Given the description of an element on the screen output the (x, y) to click on. 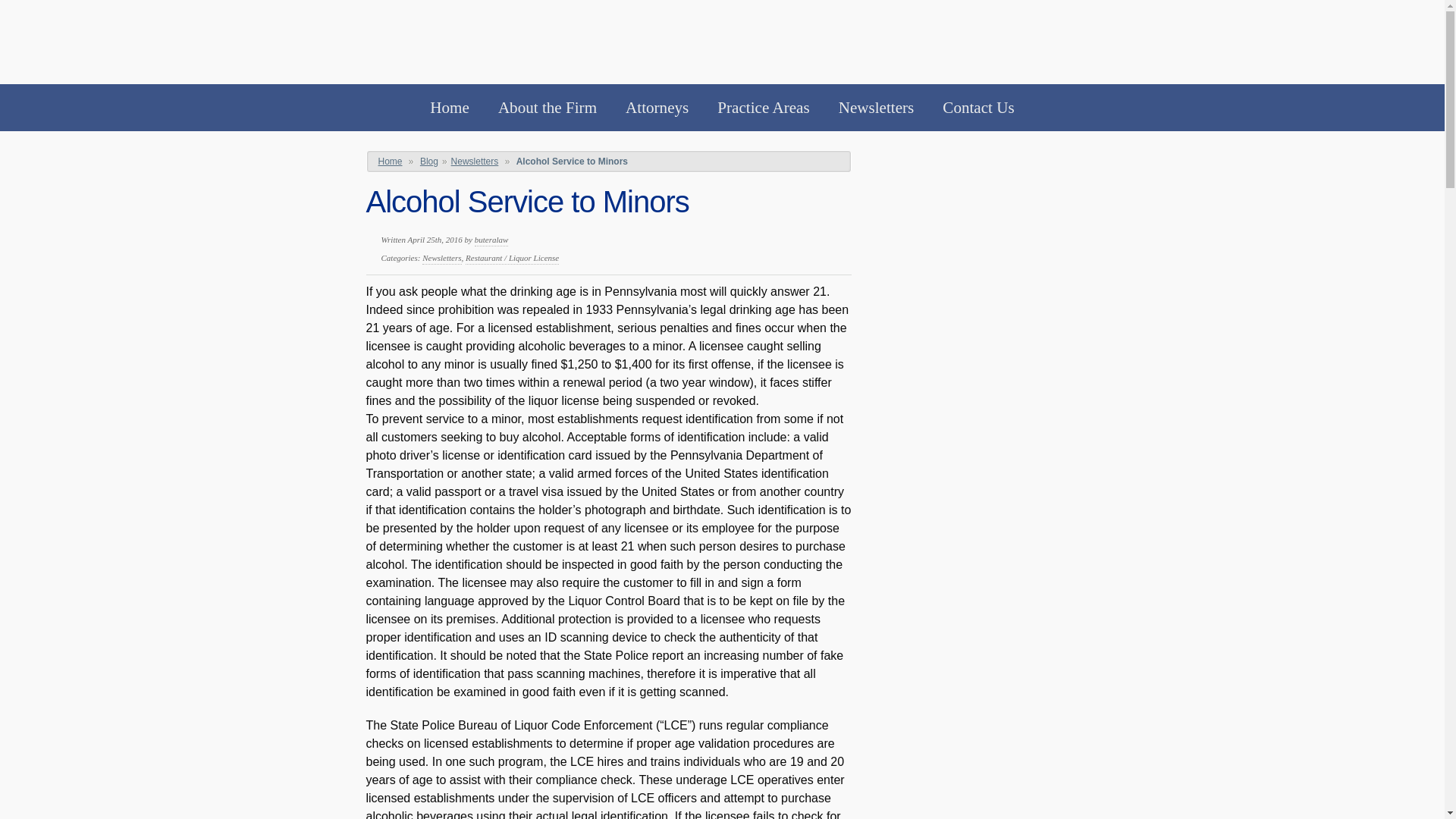
About Butera (547, 107)
buteralaw (491, 240)
Practice Areas (763, 107)
Contact Us (977, 107)
Practice Area (763, 107)
Blog (429, 161)
Contact Us (977, 107)
Home (448, 107)
About the Firm (547, 107)
Attorneys (657, 107)
